Given the description of an element on the screen output the (x, y) to click on. 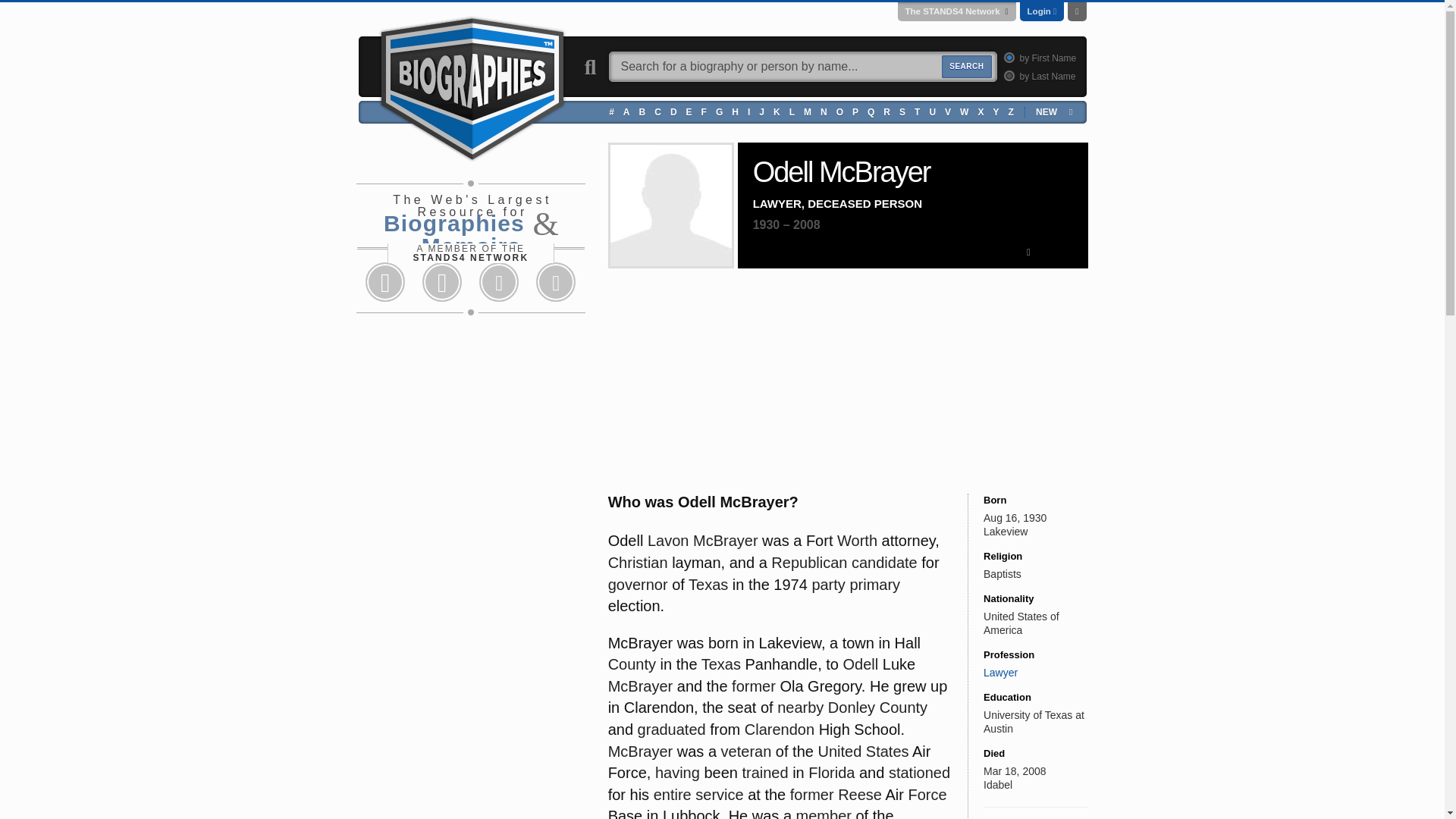
Odell McBrayer biography (671, 205)
Share this page on Reddit (498, 282)
Biographies.net (471, 86)
2 (1007, 75)
Share this page on Facebook (384, 282)
SEARCH (966, 66)
Share this page with AddToAny (556, 282)
Login (1039, 10)
Share this page on Twitter (441, 282)
1 (1007, 57)
